Given the description of an element on the screen output the (x, y) to click on. 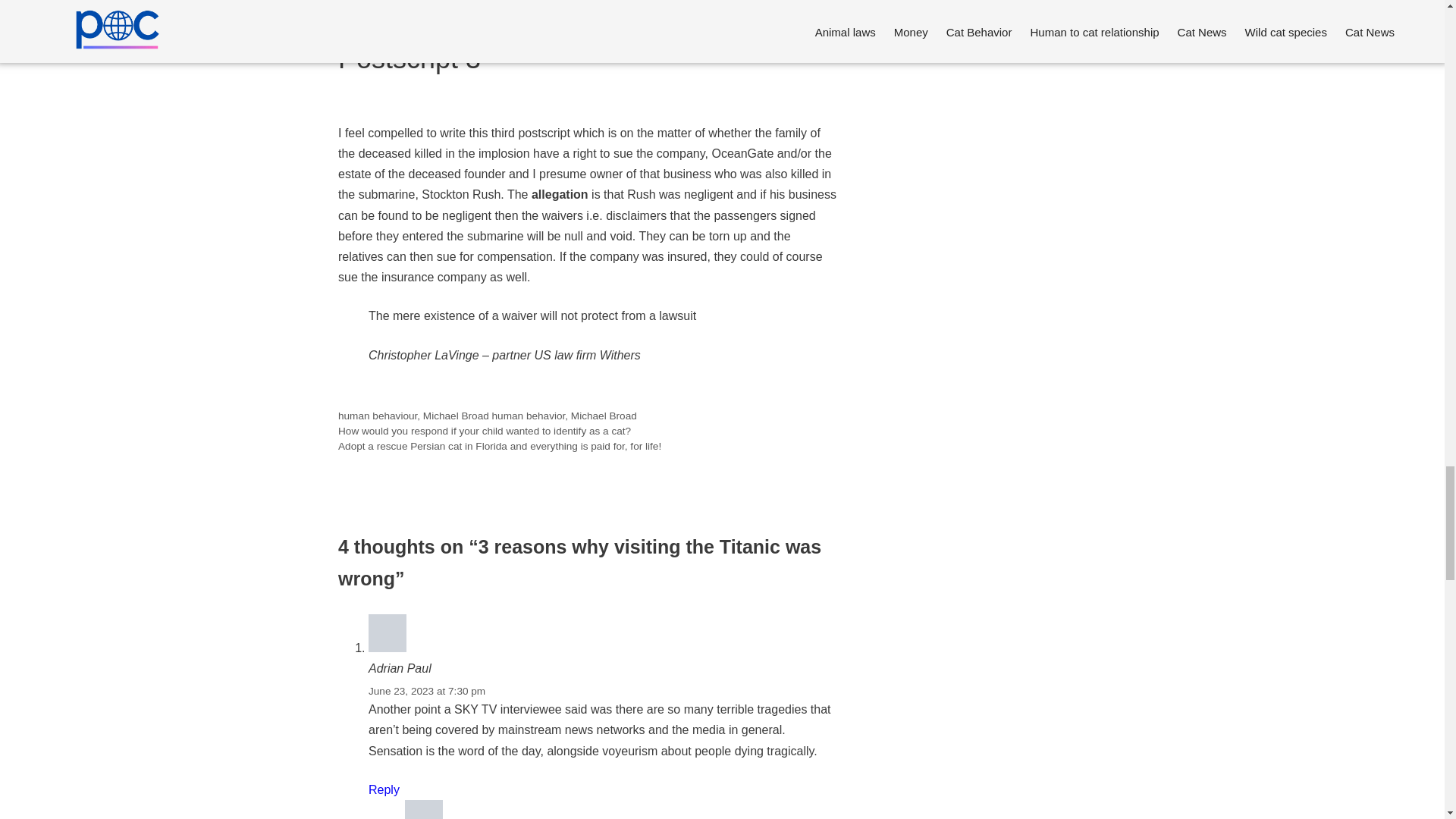
Michael Broad (456, 415)
Michael Broad (603, 415)
June 23, 2023 at 7:30 pm (426, 690)
Reply (383, 789)
human behavior (529, 415)
human behaviour (376, 415)
